Given the description of an element on the screen output the (x, y) to click on. 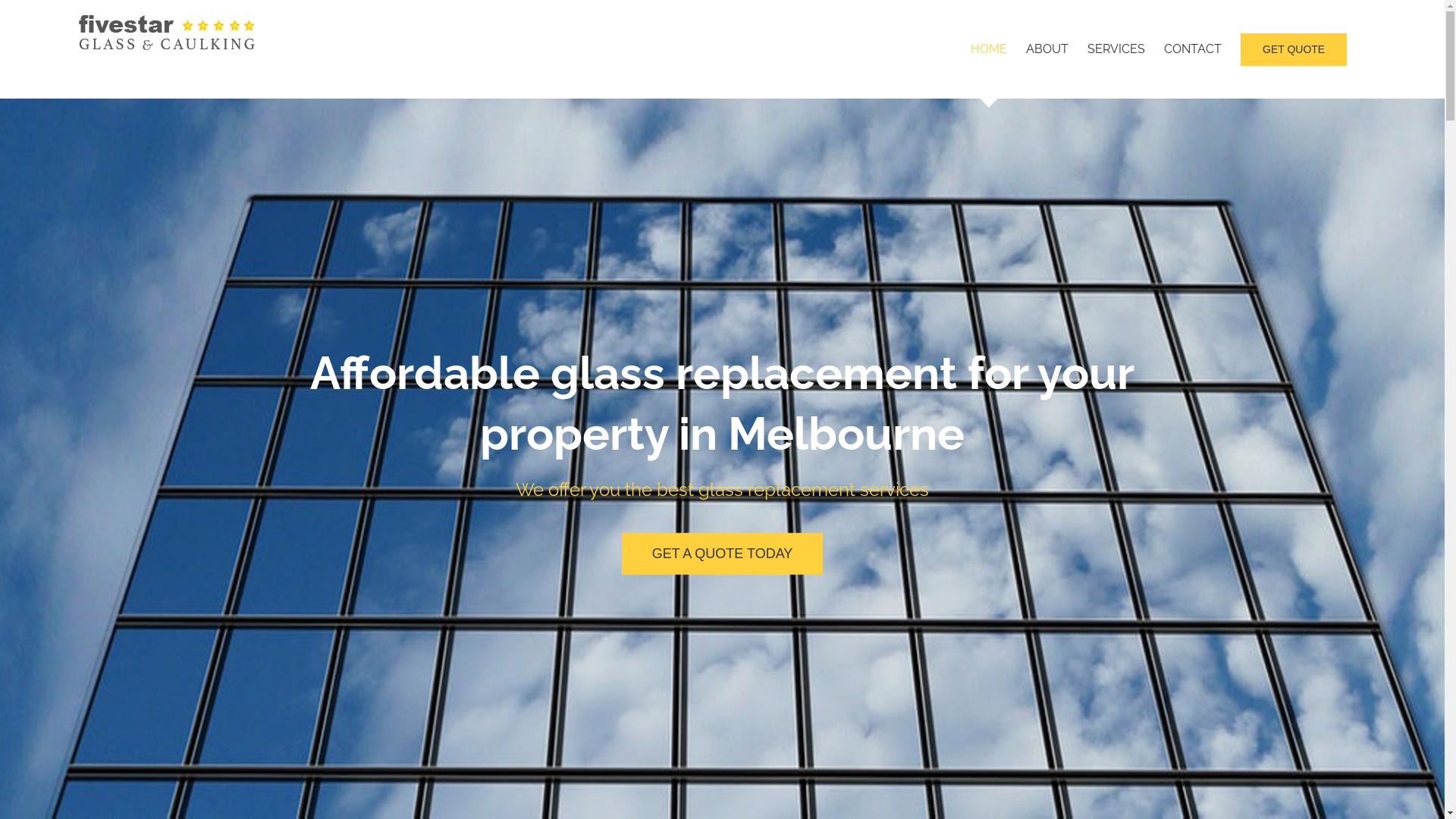
CONTACT Element type: text (1192, 49)
GET A QUOTE TODAY Element type: text (722, 553)
ABOUT Element type: text (1047, 49)
GET QUOTE Element type: text (1293, 49)
SERVICES Element type: text (1116, 49)
HOME Element type: text (988, 49)
